Given the description of an element on the screen output the (x, y) to click on. 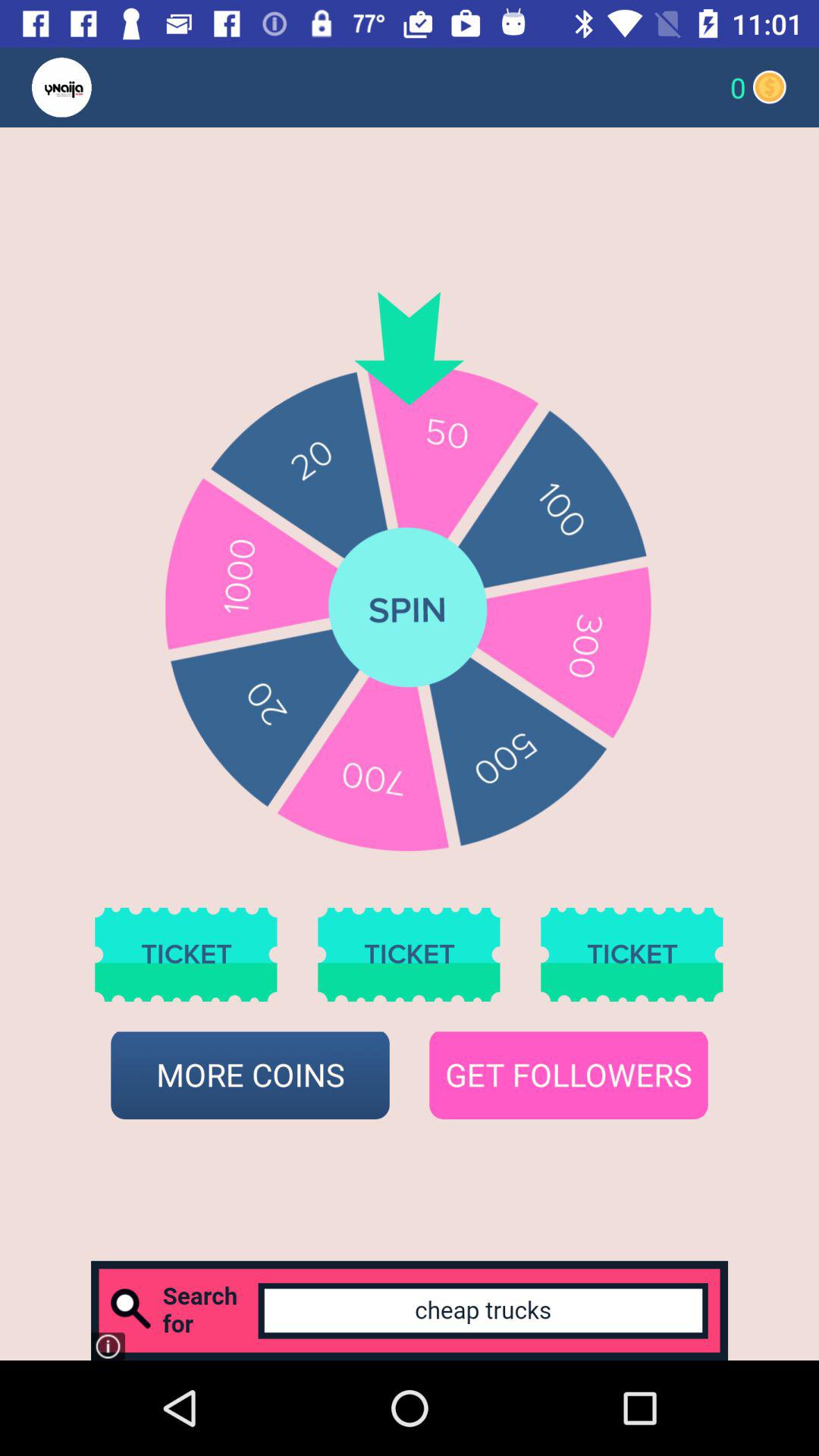
select icon next to more coins icon (568, 1075)
